Given the description of an element on the screen output the (x, y) to click on. 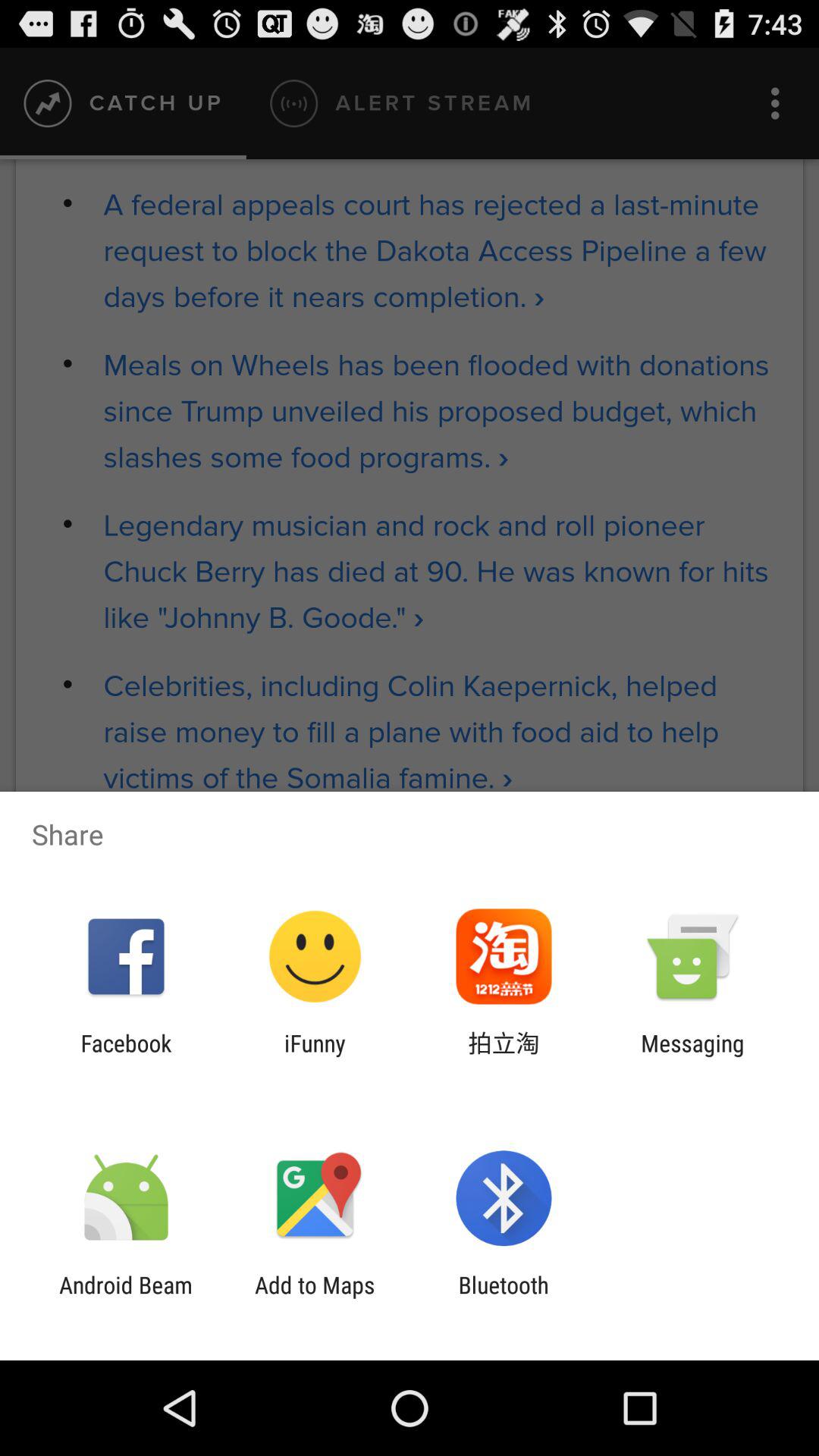
flip to add to maps icon (314, 1298)
